Given the description of an element on the screen output the (x, y) to click on. 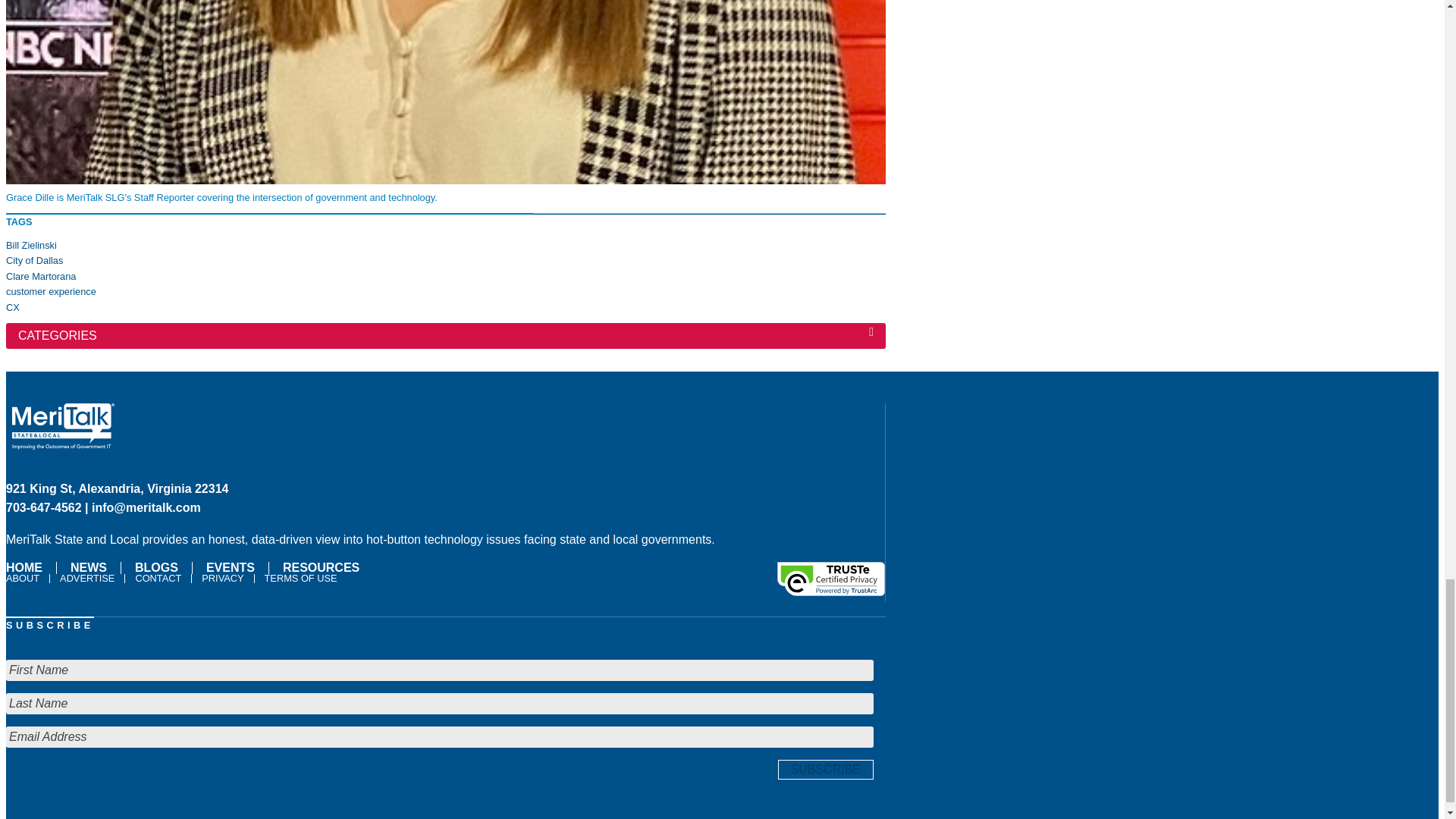
Clare Martorana (40, 276)
Subscribe (825, 769)
customer experience (50, 291)
CX (12, 307)
City of Dallas (33, 260)
Bill Zielinski (30, 244)
